Given the description of an element on the screen output the (x, y) to click on. 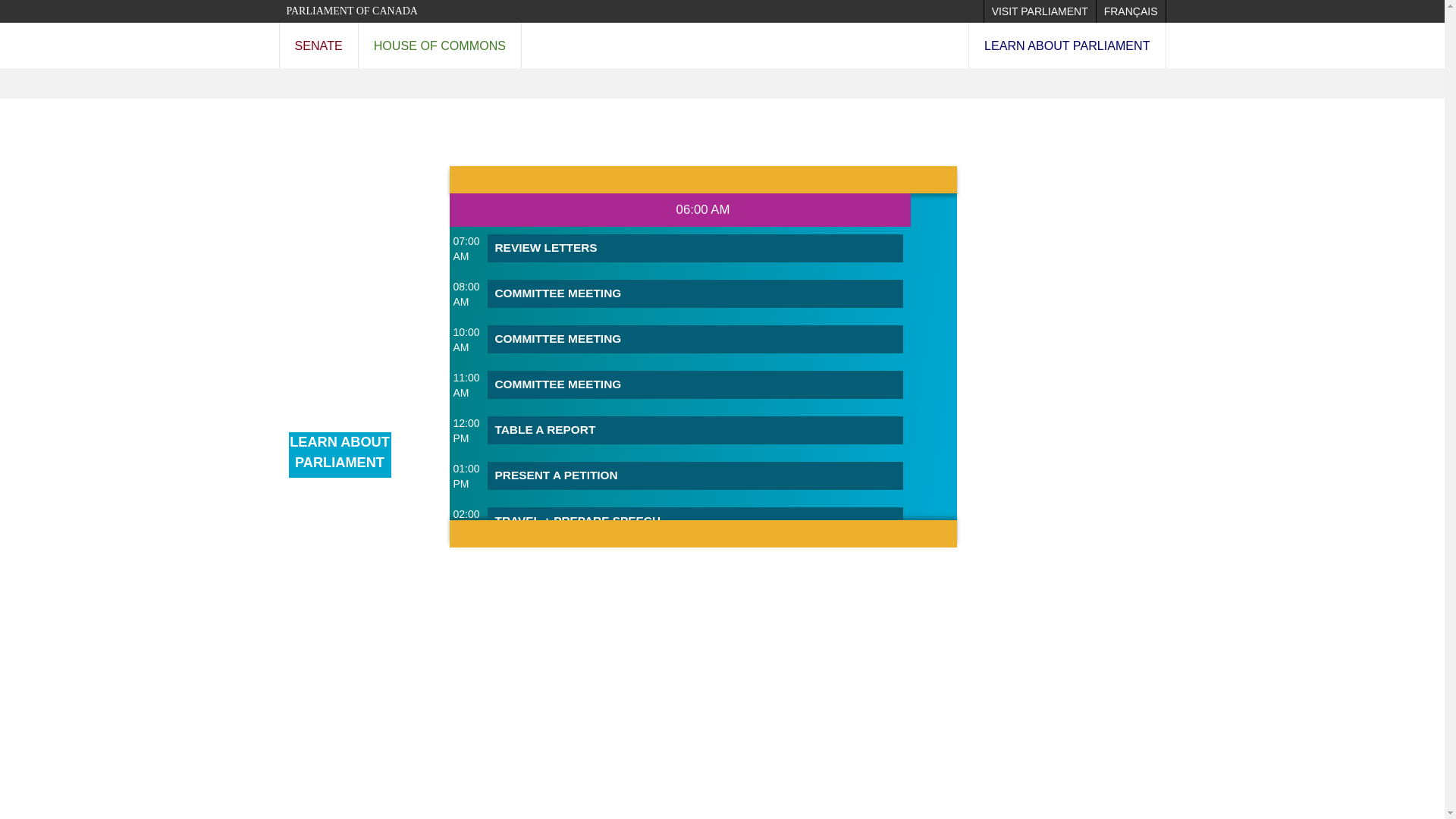
SENATE (317, 44)
LEARN ABOUT PARLIAMENT (339, 454)
HOUSE OF COMMONS (439, 44)
VISIT PARLIAMENT (1040, 11)
Setting the Agenda (374, 542)
Skip to main content (14, 7)
LEARN ABOUT PARLIAMENT (1067, 44)
PARLIAMENT OF CANADA (352, 11)
